Given the description of an element on the screen output the (x, y) to click on. 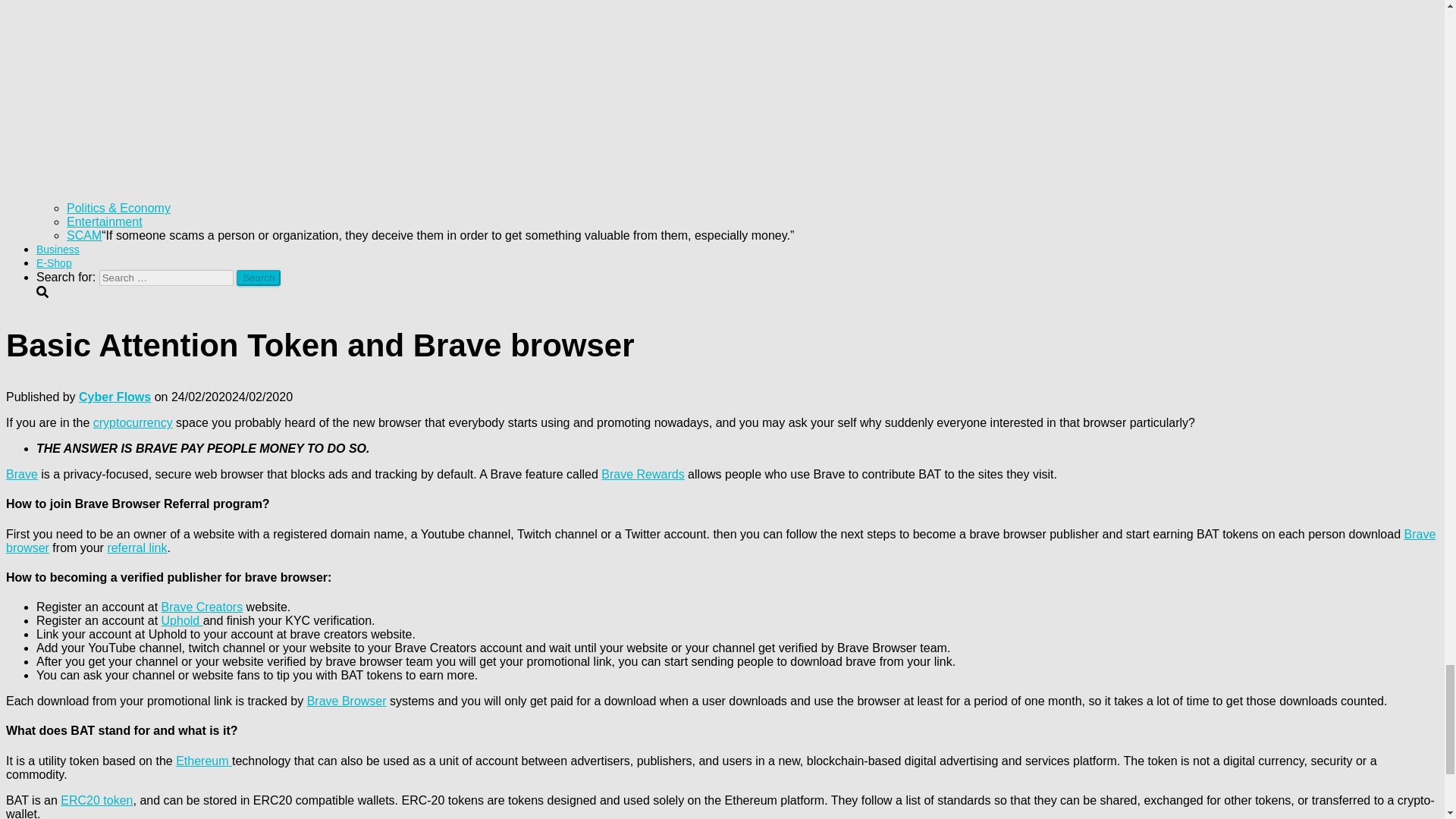
Uphold  (182, 620)
Brave Browser (347, 700)
Entertainment (104, 221)
Brave Creators (202, 606)
Brave (21, 473)
Cyber Flows (114, 396)
cryptocurrency (133, 422)
E-Shop (53, 263)
SCAM (83, 235)
ERC20 token (96, 799)
Business (58, 249)
Ethereum (203, 760)
Search (258, 277)
Brave Rewards (642, 473)
referral link (136, 547)
